Given the description of an element on the screen output the (x, y) to click on. 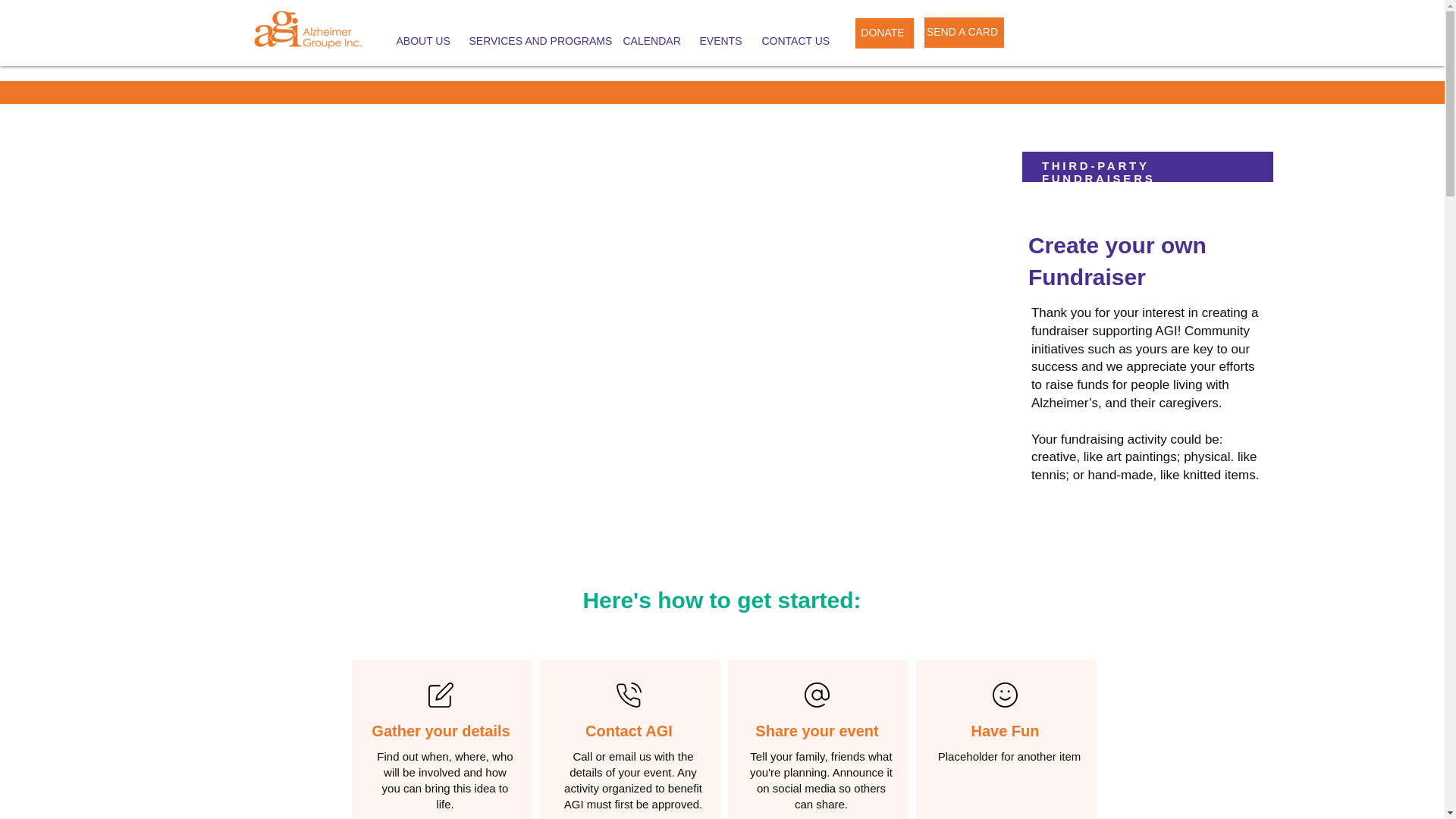
CALENDAR (649, 40)
SERVICES AND PROGRAMS (534, 40)
EVENTS (719, 40)
SEND A CARD (963, 32)
CONTACT US (794, 40)
DONATE (885, 33)
ABOUT US (421, 40)
